Given the description of an element on the screen output the (x, y) to click on. 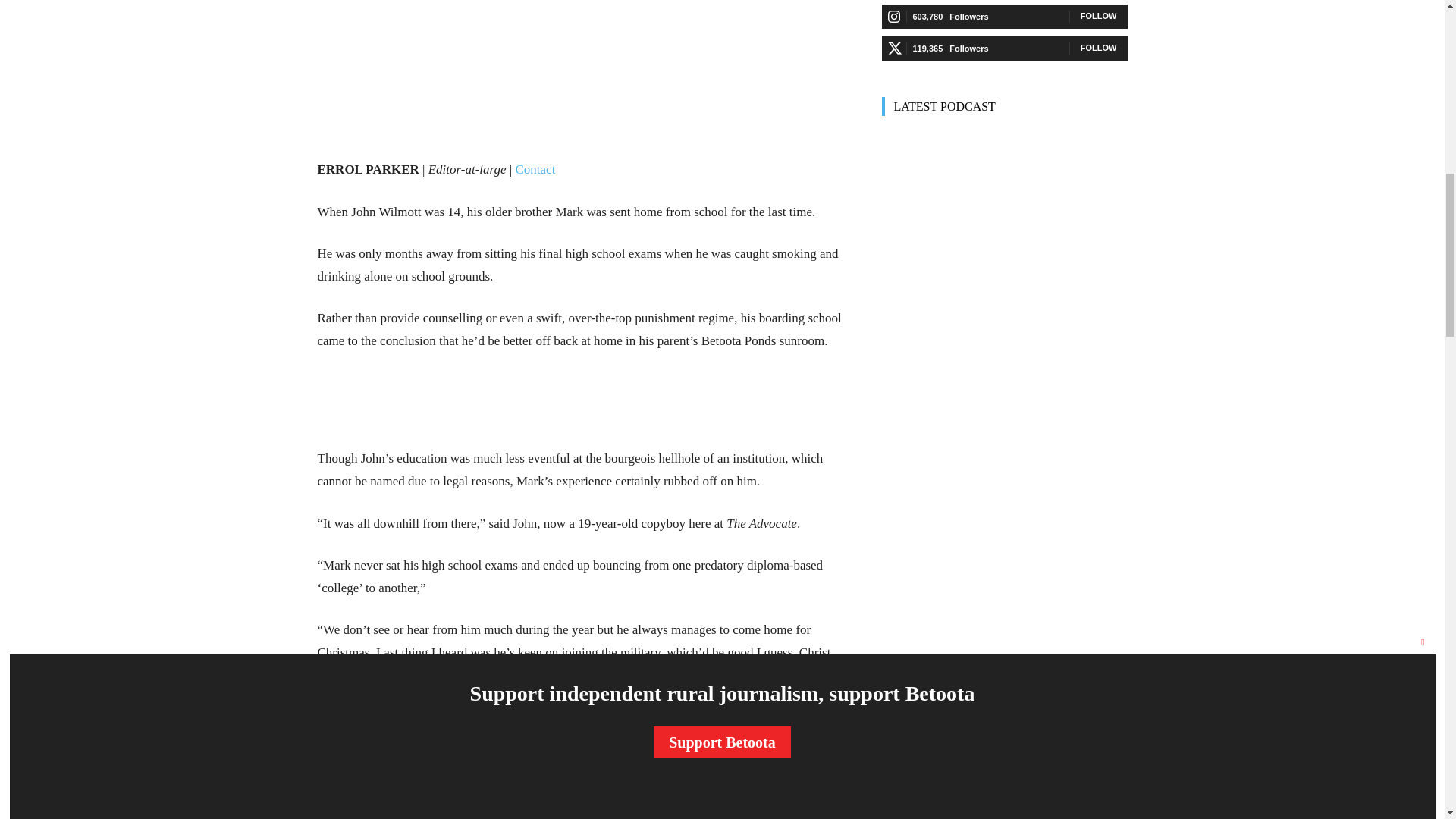
fuckupbrother (580, 31)
